Given the description of an element on the screen output the (x, y) to click on. 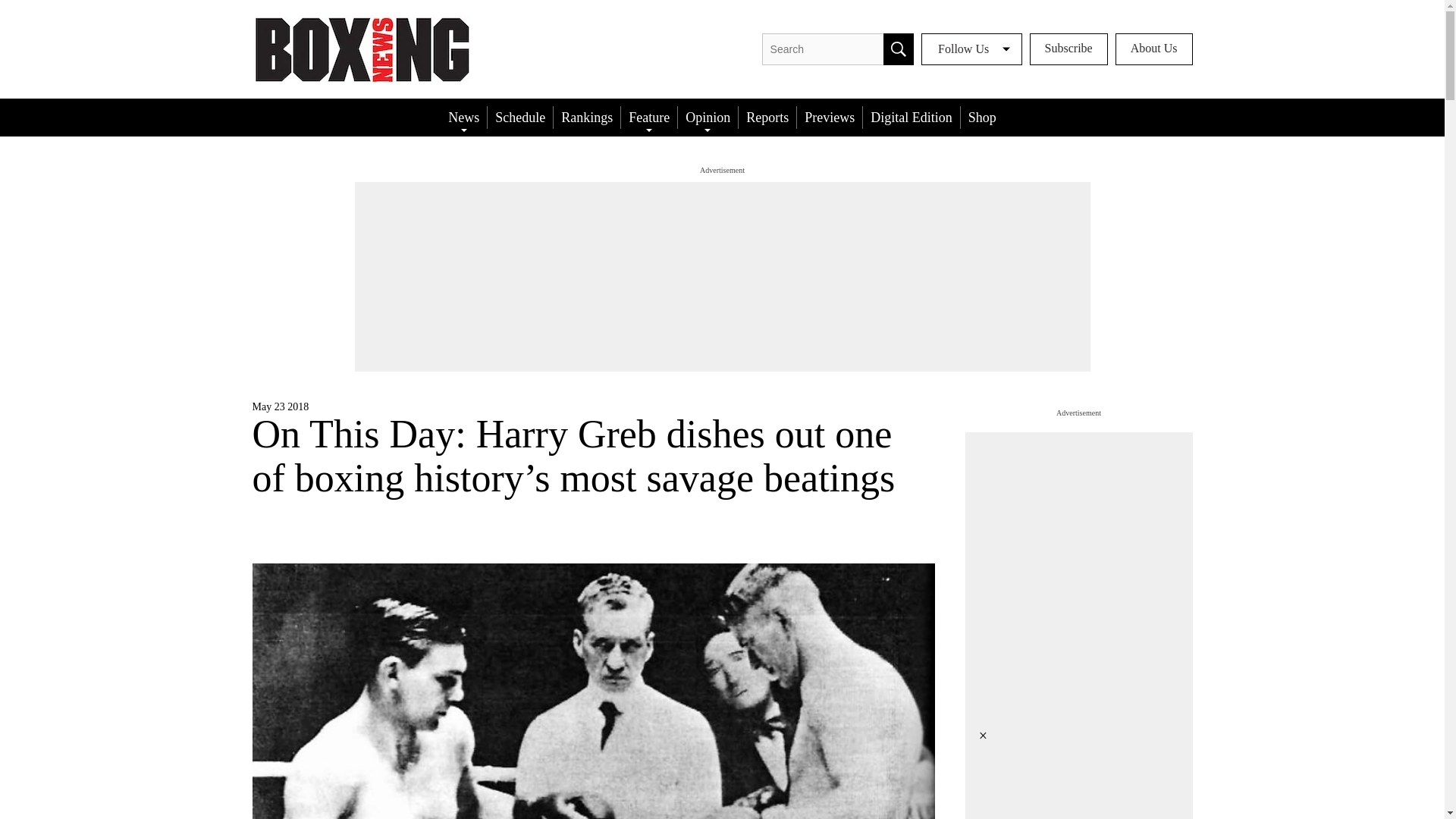
Feature (649, 117)
Previews (828, 117)
Reports (767, 117)
Follow Us (971, 49)
News (463, 117)
Subscribe (1068, 49)
Opinion (708, 117)
Shop (982, 117)
Digital Edition (911, 117)
Search (898, 49)
Rankings (586, 117)
About Us (1153, 49)
Schedule (520, 117)
